Given the description of an element on the screen output the (x, y) to click on. 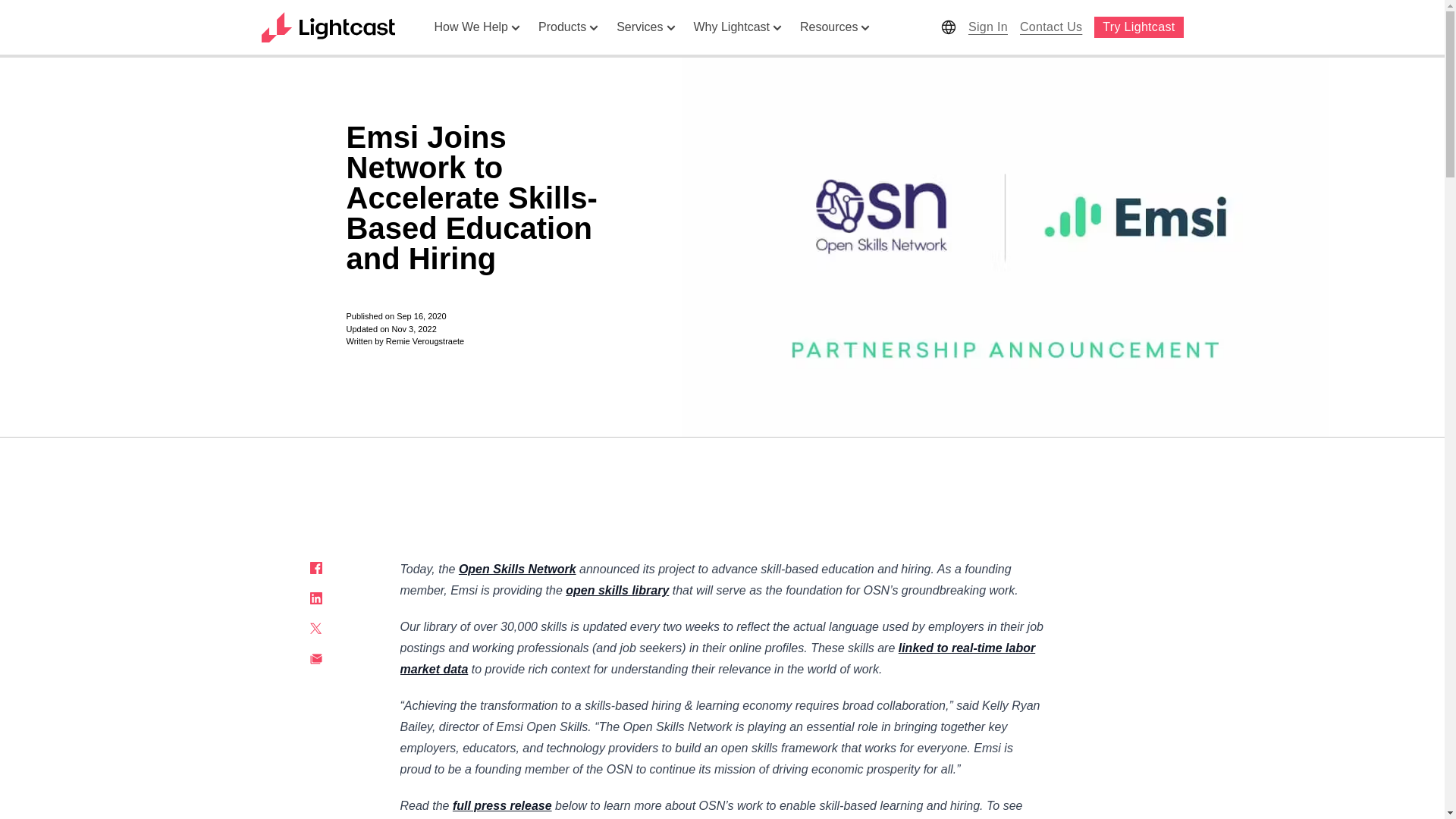
full press release (501, 805)
Services (645, 27)
Open Skills Network (517, 568)
Sign In (987, 27)
linked to real-time labor market data (717, 658)
How We Help (477, 27)
Resources (834, 27)
Try Lightcast (1138, 26)
Contact Us (1050, 27)
open skills library (617, 590)
